Given the description of an element on the screen output the (x, y) to click on. 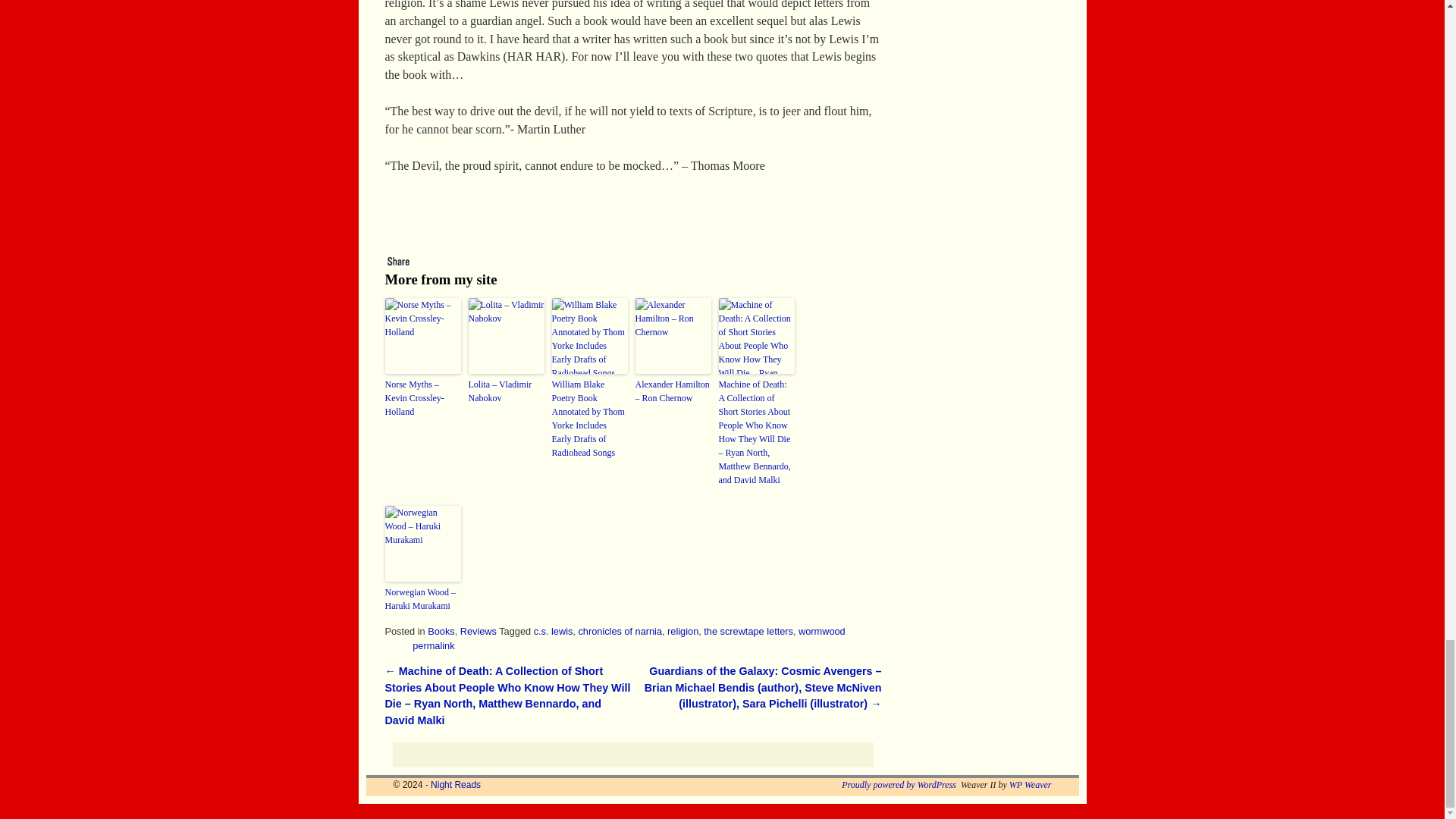
religion (682, 631)
c.s. lewis (553, 631)
Night Reads (455, 784)
permalink (433, 645)
the screwtape letters (748, 631)
Books (441, 631)
Reviews (478, 631)
wordpress.org (898, 784)
wormwood (821, 631)
chronicles of narnia (620, 631)
